Given the description of an element on the screen output the (x, y) to click on. 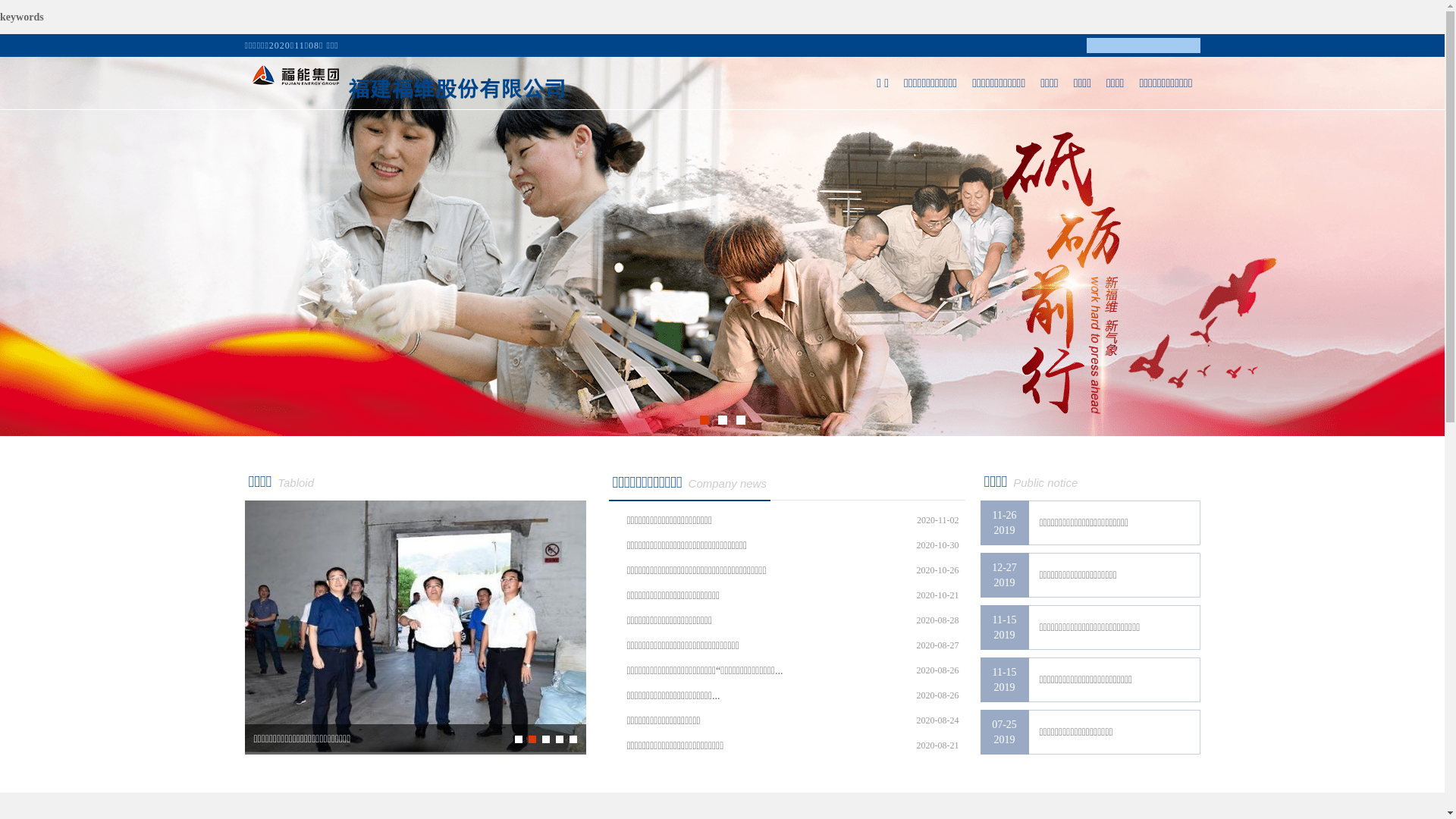
keywords Element type: text (21, 16)
